Given the description of an element on the screen output the (x, y) to click on. 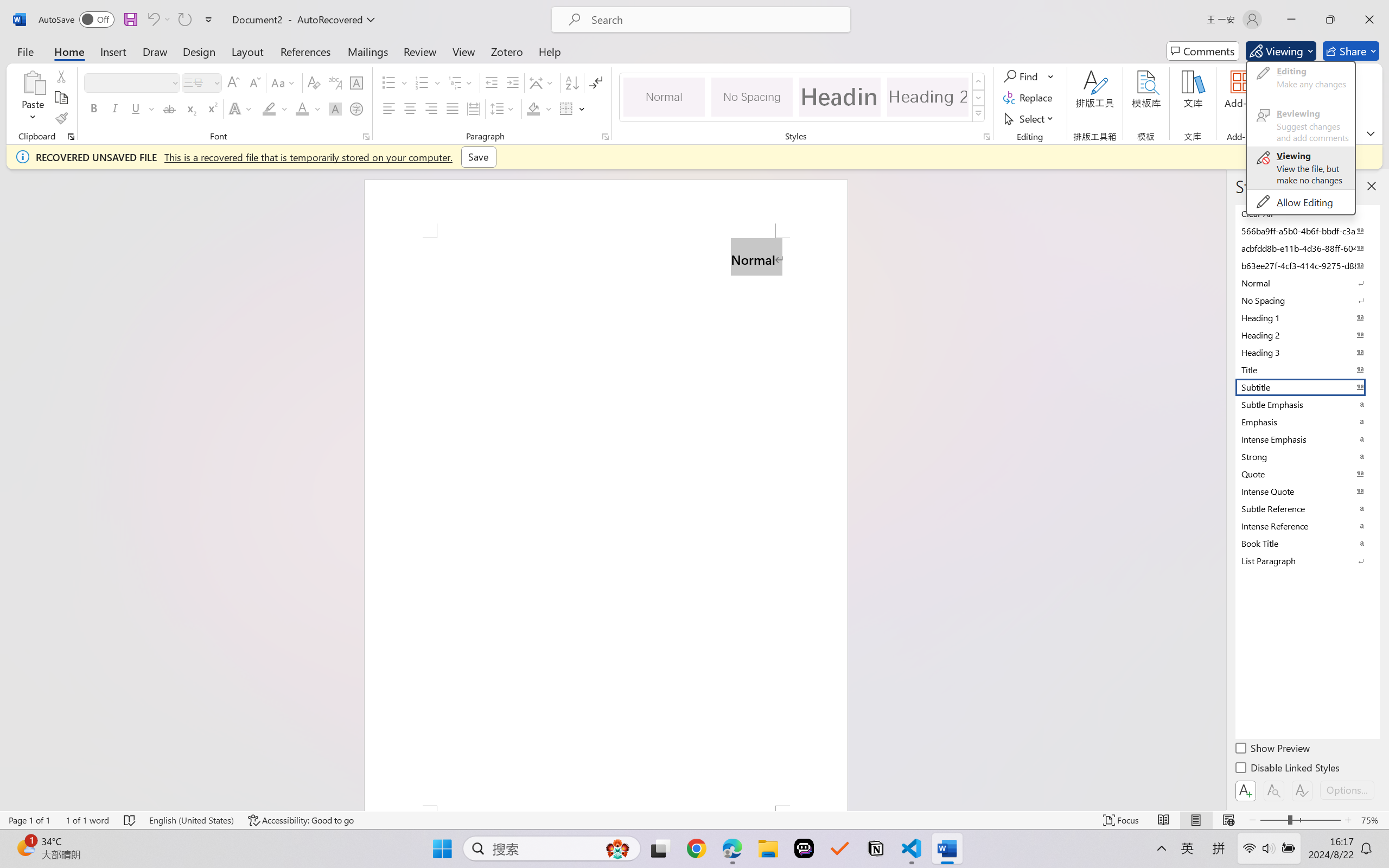
Italic (115, 108)
Office Clipboard... (70, 136)
Page 1 content (605, 521)
Title (1306, 369)
Can't Undo (158, 19)
Center (409, 108)
Show/Hide Editing Marks (595, 82)
Can't Undo (152, 19)
Help (549, 51)
Options... (1346, 789)
Align Left (388, 108)
Asian Layout (542, 82)
